Given the description of an element on the screen output the (x, y) to click on. 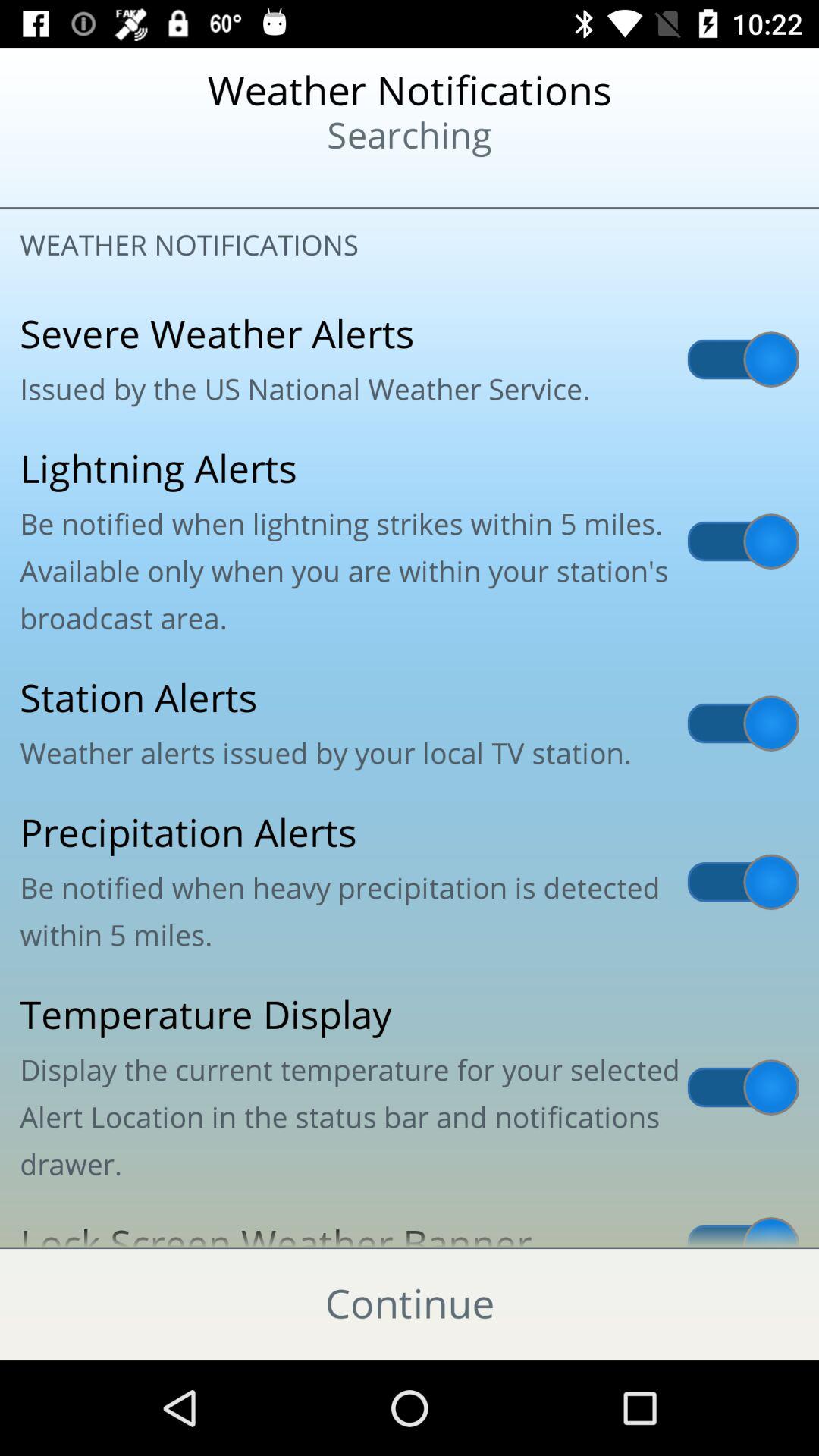
scroll to temperature display display icon (409, 1087)
